Given the description of an element on the screen output the (x, y) to click on. 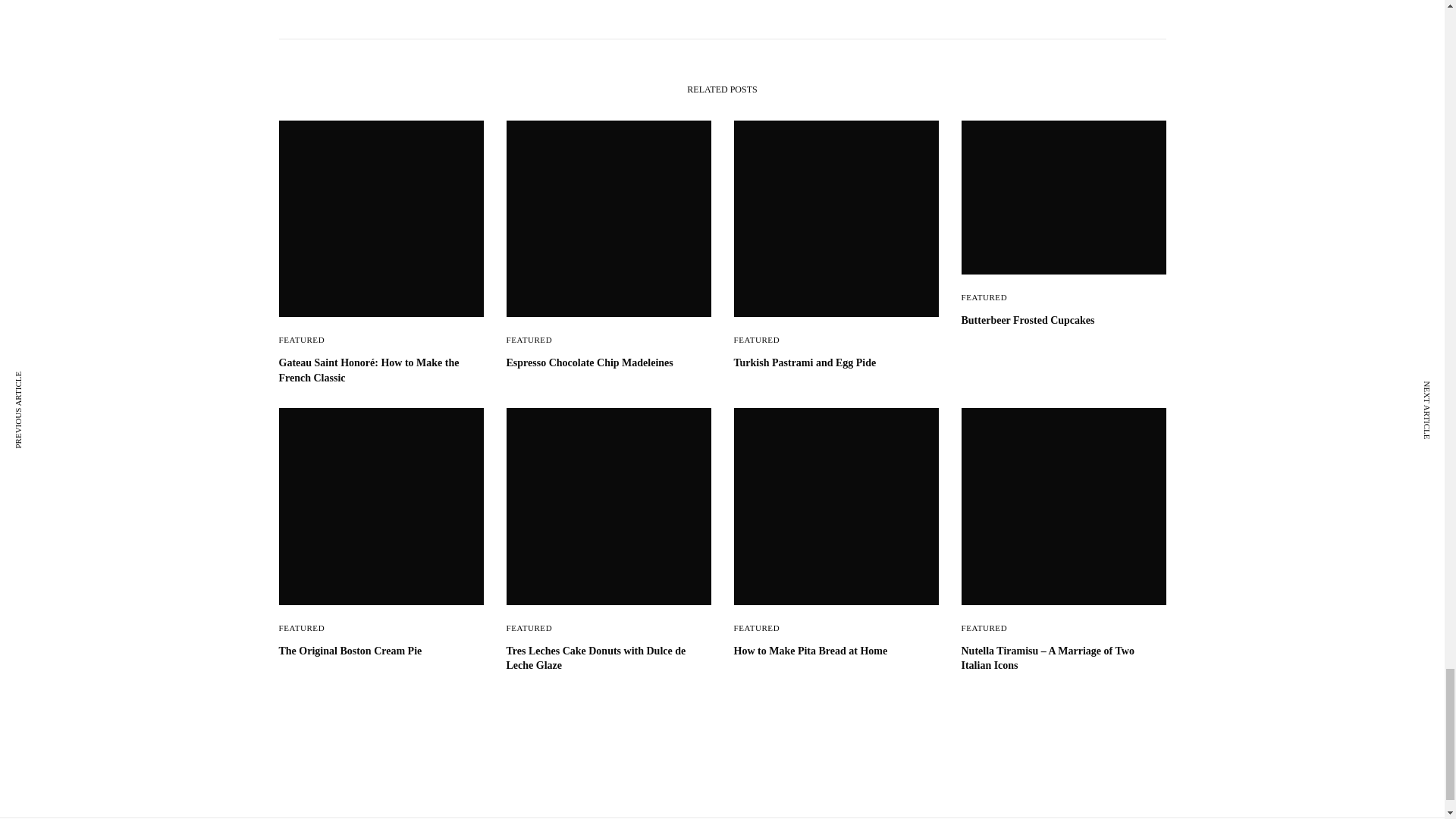
Espresso Chocolate Chip Madeleines (608, 363)
Turkish Pastrami and Egg Pide (836, 363)
The Original Boston Cream Pie (381, 650)
Butterbeer Frosted Cupcakes (1063, 320)
Tres Leches Cake Donuts with Dulce de Leche Glaze (608, 657)
How to Make Pita Bread at Home (836, 650)
